Given the description of an element on the screen output the (x, y) to click on. 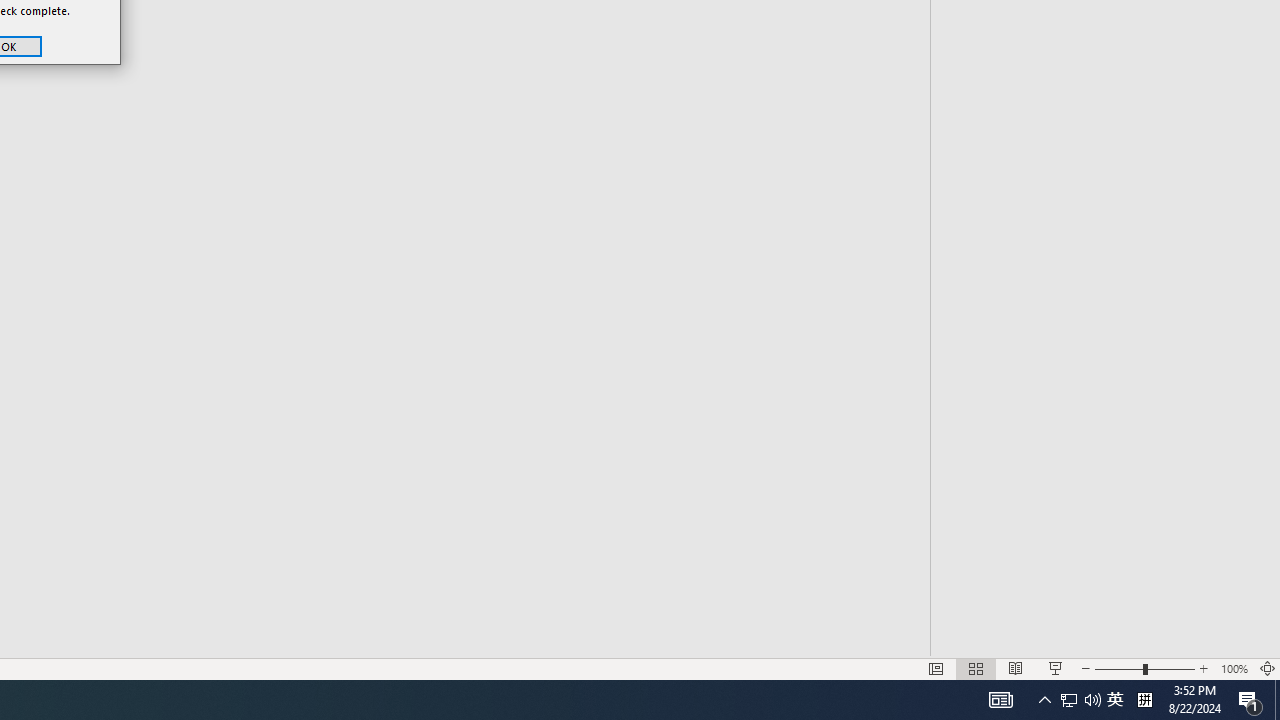
Zoom 100% (1234, 668)
